Given the description of an element on the screen output the (x, y) to click on. 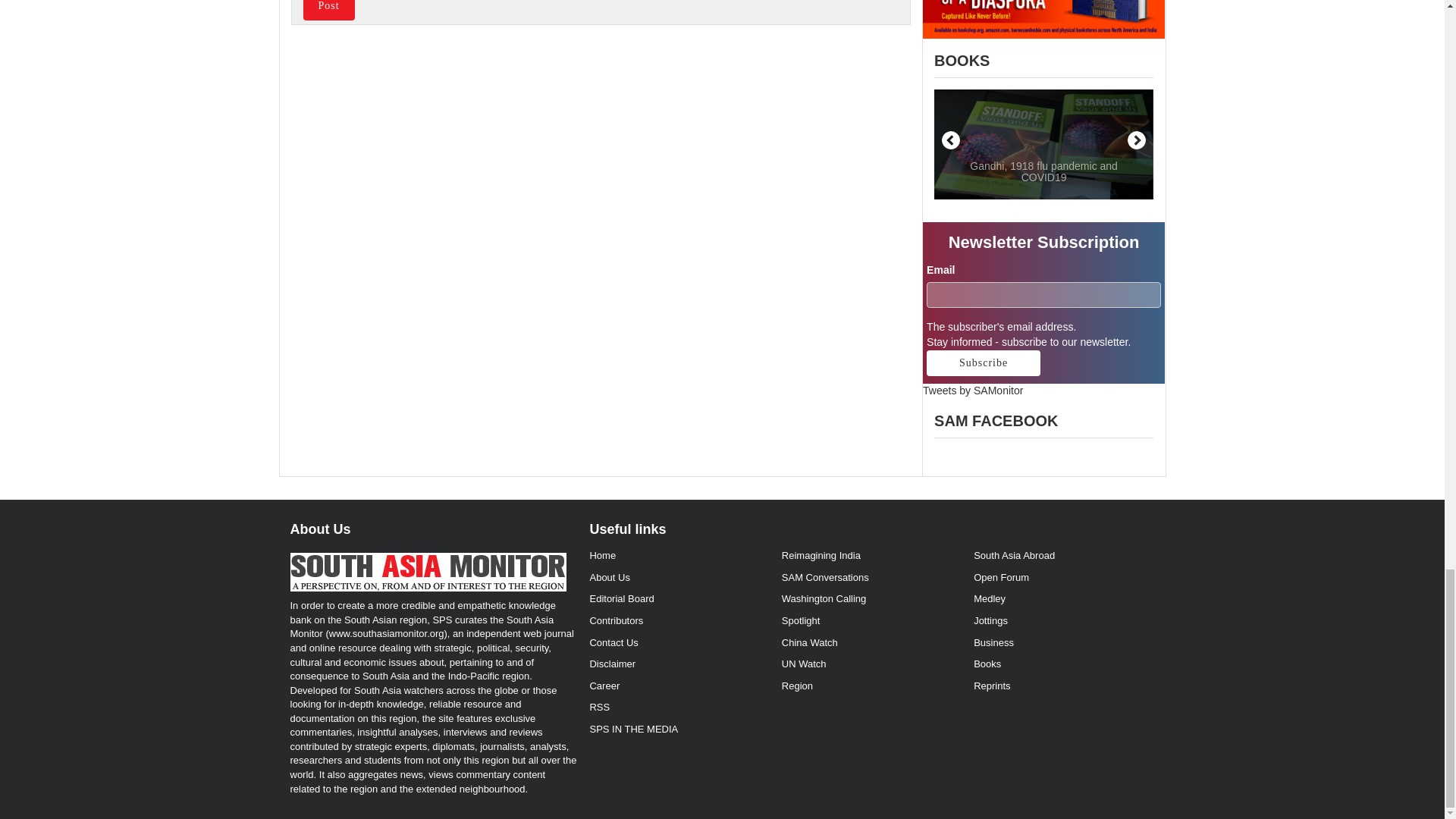
Post (328, 10)
Subscribe (983, 362)
